Given the description of an element on the screen output the (x, y) to click on. 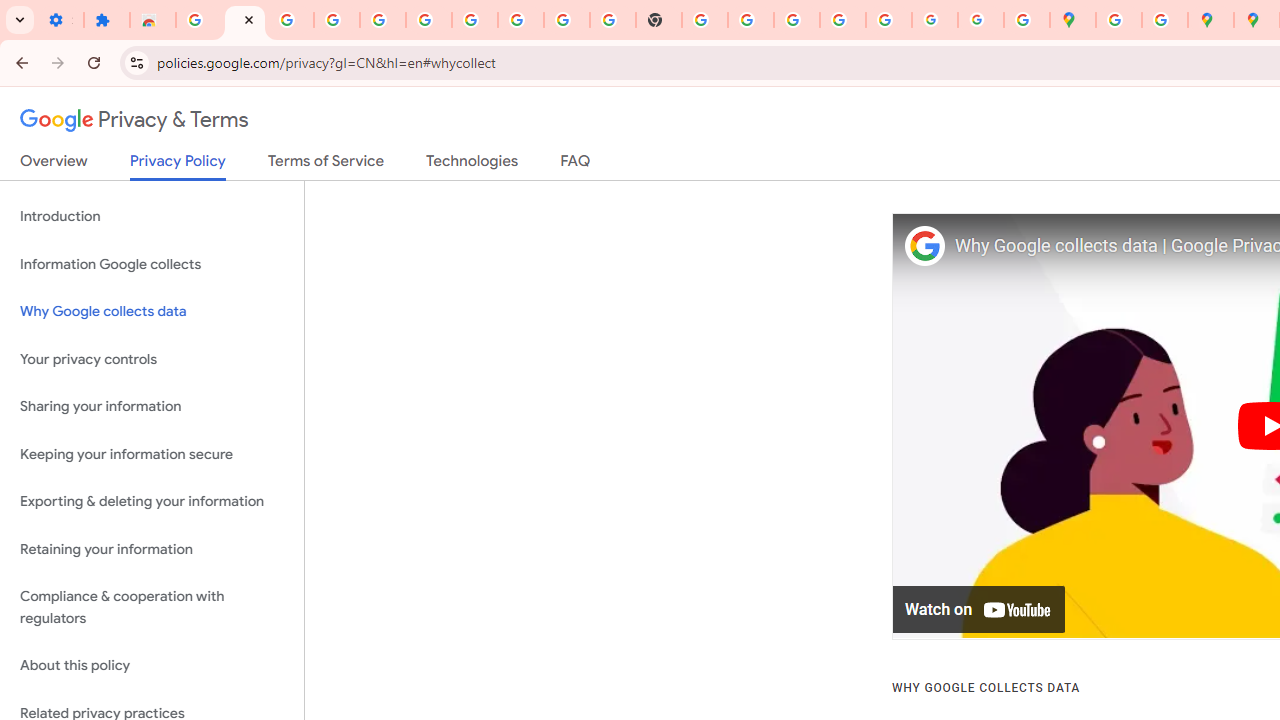
Reviews: Helix Fruit Jump Arcade Game (153, 20)
Settings - On startup (60, 20)
Sign in - Google Accounts (198, 20)
https://scholar.google.com/ (705, 20)
Photo image of Google (924, 246)
Safety in Our Products - Google Safety Center (1164, 20)
